Given the description of an element on the screen output the (x, y) to click on. 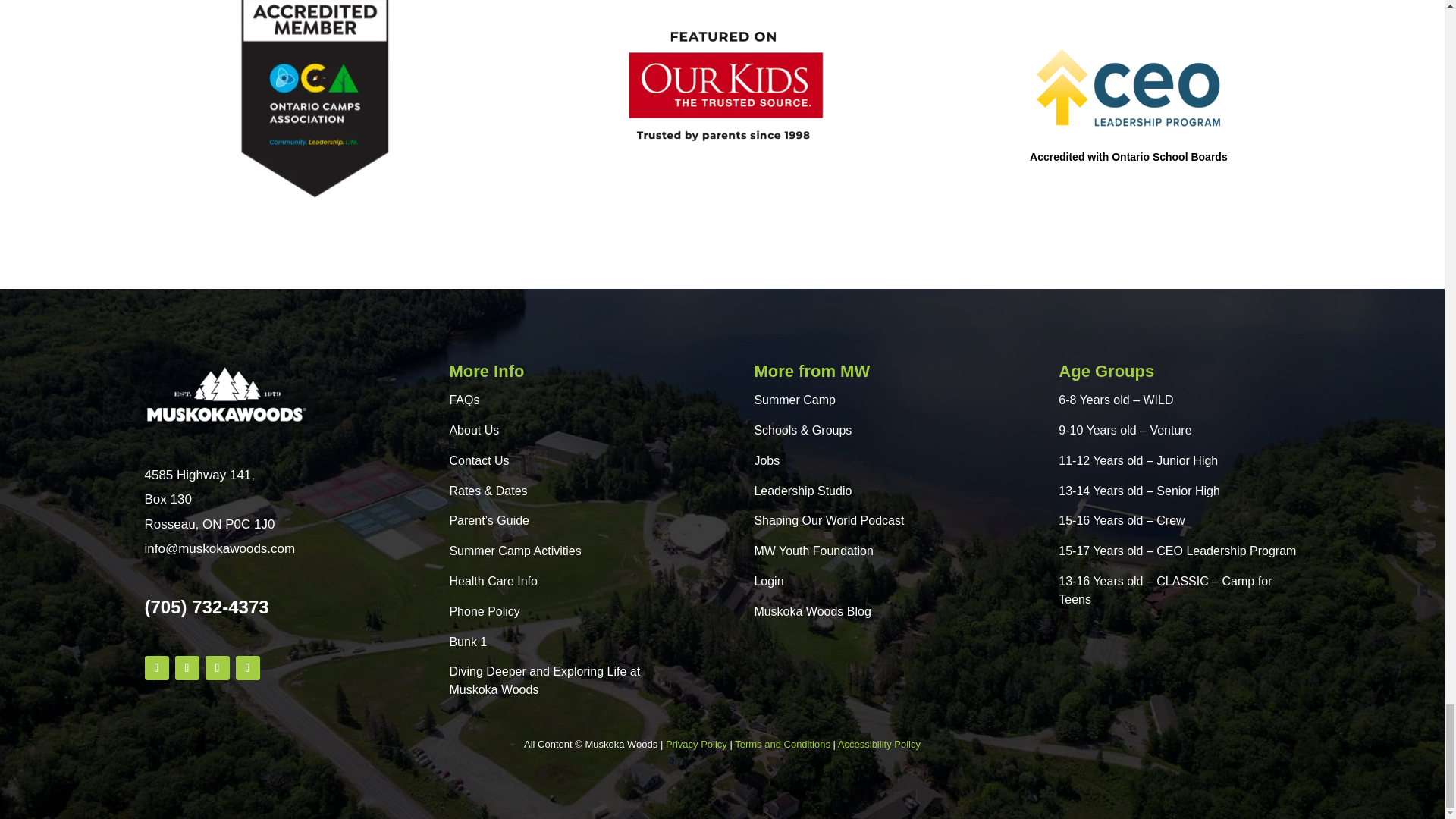
Contact Us (478, 460)
About Us (473, 430)
Unmatched Summer Camp Activities at Muskoka Woods (514, 550)
Muskoka Woods is a trusted partner of Our Kids (721, 88)
Email Muskoka Woods (219, 548)
Call Muskoka Woods (205, 607)
Follow on X (186, 668)
Muskoka Woods Summer Camp (226, 394)
Follow on Instagram (216, 668)
Parent's Guide (488, 520)
Follow on Youtube (246, 668)
Frequently Asked Questions (463, 399)
Follow on Facebook (156, 668)
